Given the description of an element on the screen output the (x, y) to click on. 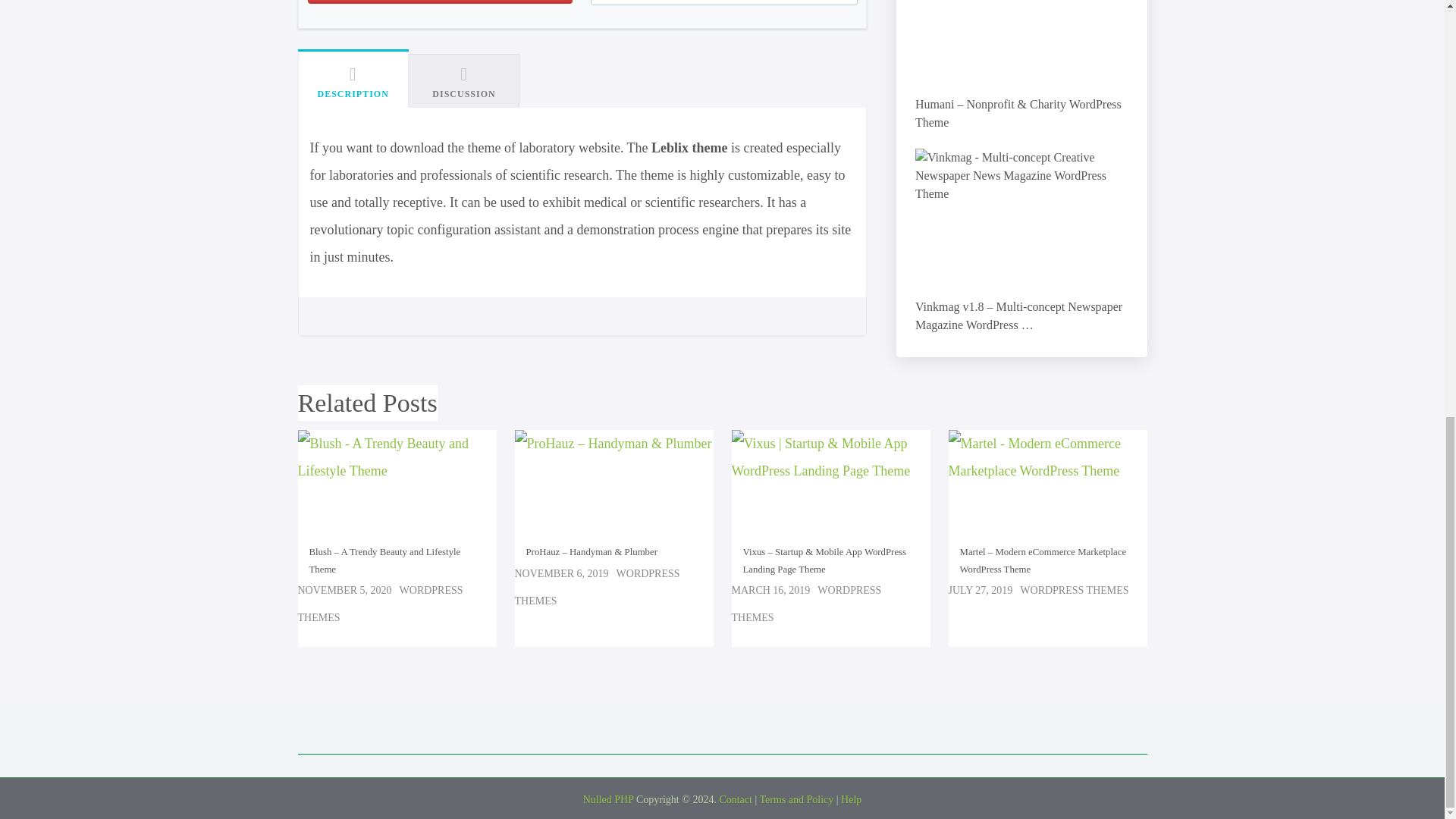
DISCUSSION (464, 81)
DESCRIPTION (352, 78)
Download link are locked (439, 1)
View Demo (724, 2)
View Demo (724, 2)
Login to Download (439, 1)
